Given the description of an element on the screen output the (x, y) to click on. 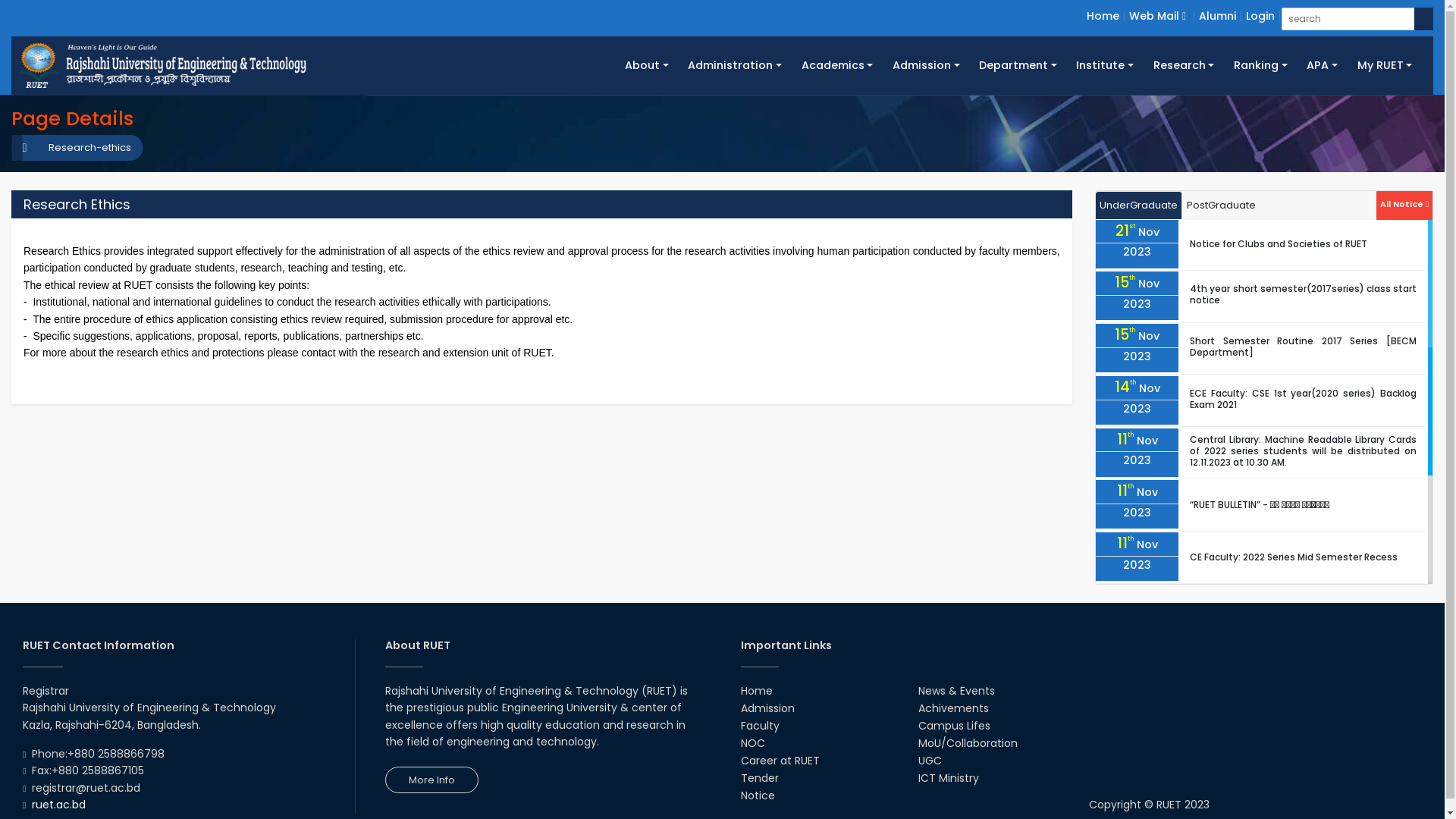
Research-ethics Element type: text (81, 147)
ICT Ministry Element type: text (948, 777)
Web Mail Element type: text (1157, 15)
Notice Element type: text (757, 795)
Research Element type: text (1183, 65)
Admission Element type: text (925, 65)
CE Faculty: 2022 Series Mid Semester Recess Element type: text (1293, 556)
Administration Element type: text (734, 65)
Admission Element type: text (766, 707)
Notice for Clubs and Societies of RUET Element type: text (1278, 243)
APA Element type: text (1321, 65)
Home Element type: text (1102, 15)
Career at RUET Element type: text (779, 760)
Ranking Element type: text (1259, 65)
4th year short semester(2017series) class start notice Element type: text (1302, 293)
About Element type: text (646, 65)
My RUET Element type: text (1384, 65)
Login Element type: text (1259, 15)
News & Events Element type: text (956, 690)
Achivements Element type: text (953, 707)
Home Element type: text (755, 690)
Department Element type: text (1017, 65)
Campus Lifes Element type: text (954, 725)
Academics Element type: text (836, 65)
NOC Element type: text (752, 742)
All Notice Element type: text (1404, 203)
UnderGraduate Element type: text (1138, 205)
Alumni Element type: text (1217, 15)
ECE Faculty: CSE 1st year(2020 series) Backlog Exam 2021 Element type: text (1302, 398)
MoU/Collaboration Element type: text (967, 742)
UGC Element type: text (929, 760)
PostGraduate Element type: text (1221, 205)
Survey Class of 1st Year Students (2021 Series) Element type: text (1298, 660)
Tender Element type: text (759, 777)
Short Semester Routine 2017 Series [BECM Department] Element type: text (1302, 346)
Faculty Element type: text (759, 725)
More Info Element type: text (431, 779)
ruet.ac.bd Element type: text (58, 804)
Institute Element type: text (1104, 65)
